Given the description of an element on the screen output the (x, y) to click on. 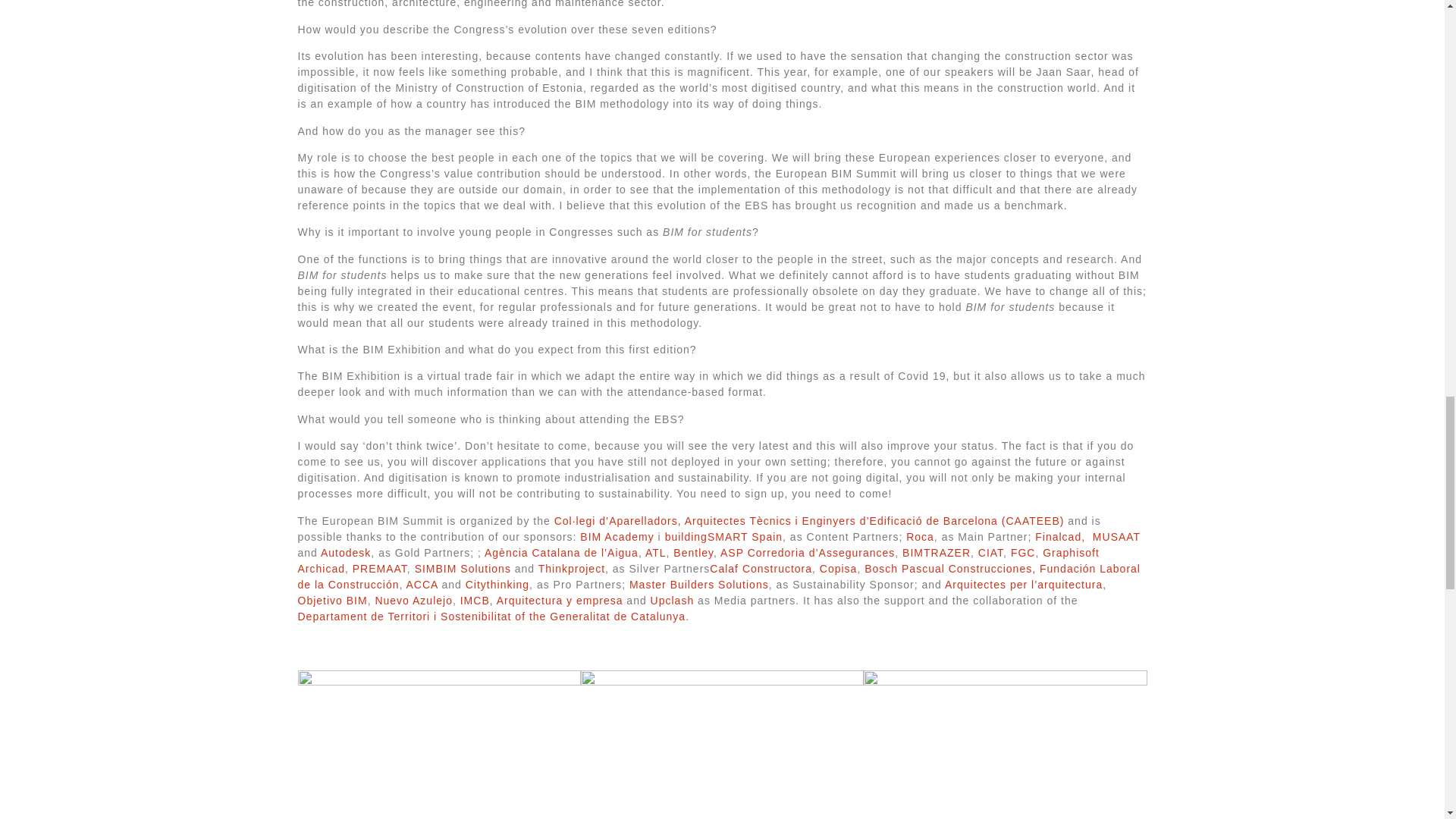
Finalcad, (1062, 536)
BIMTRAZER (936, 552)
Bentley (692, 552)
Roca (919, 536)
MUSAAT (1116, 536)
CIAT (990, 552)
BIM Academy (616, 536)
ATL (655, 552)
FGC (1022, 552)
Autodesk (345, 552)
buildingSMART Spain (724, 536)
